Given the description of an element on the screen output the (x, y) to click on. 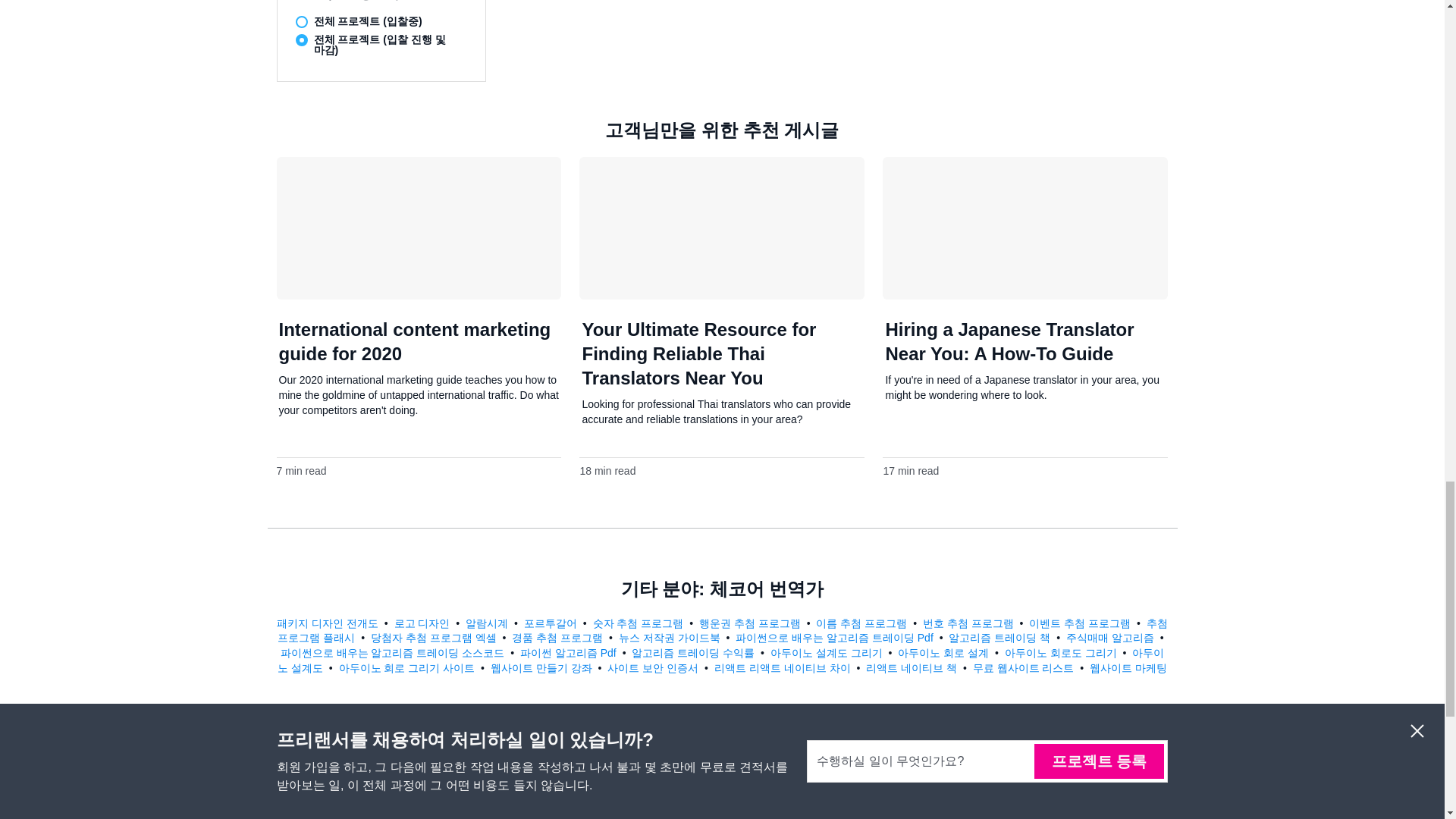
International content marketing guide for 2020 (415, 341)
Hiring a Japanese Translator Near You: A How-To Guide (1009, 341)
